Given the description of an element on the screen output the (x, y) to click on. 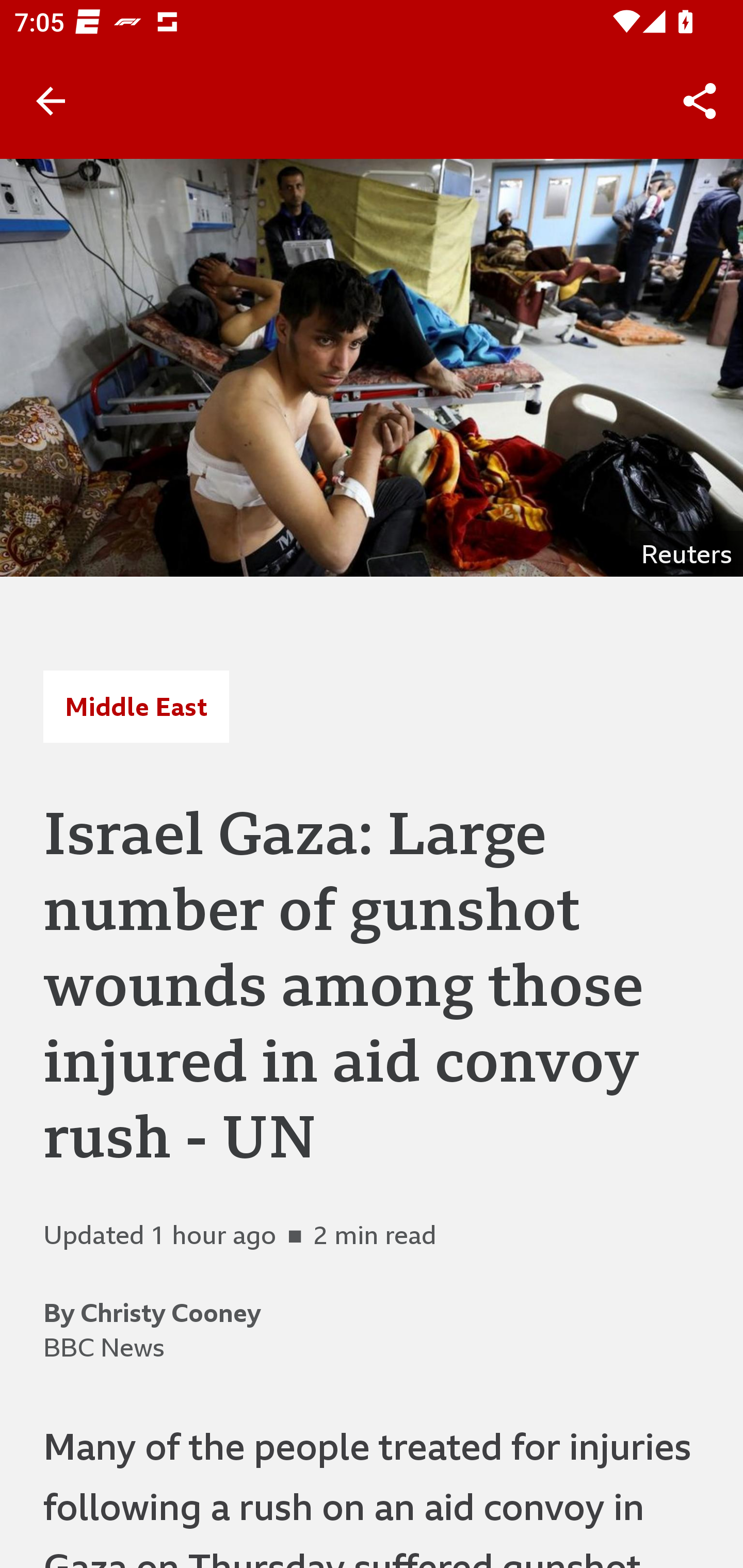
Back (50, 101)
Share (699, 101)
Middle East (135, 706)
